Given the description of an element on the screen output the (x, y) to click on. 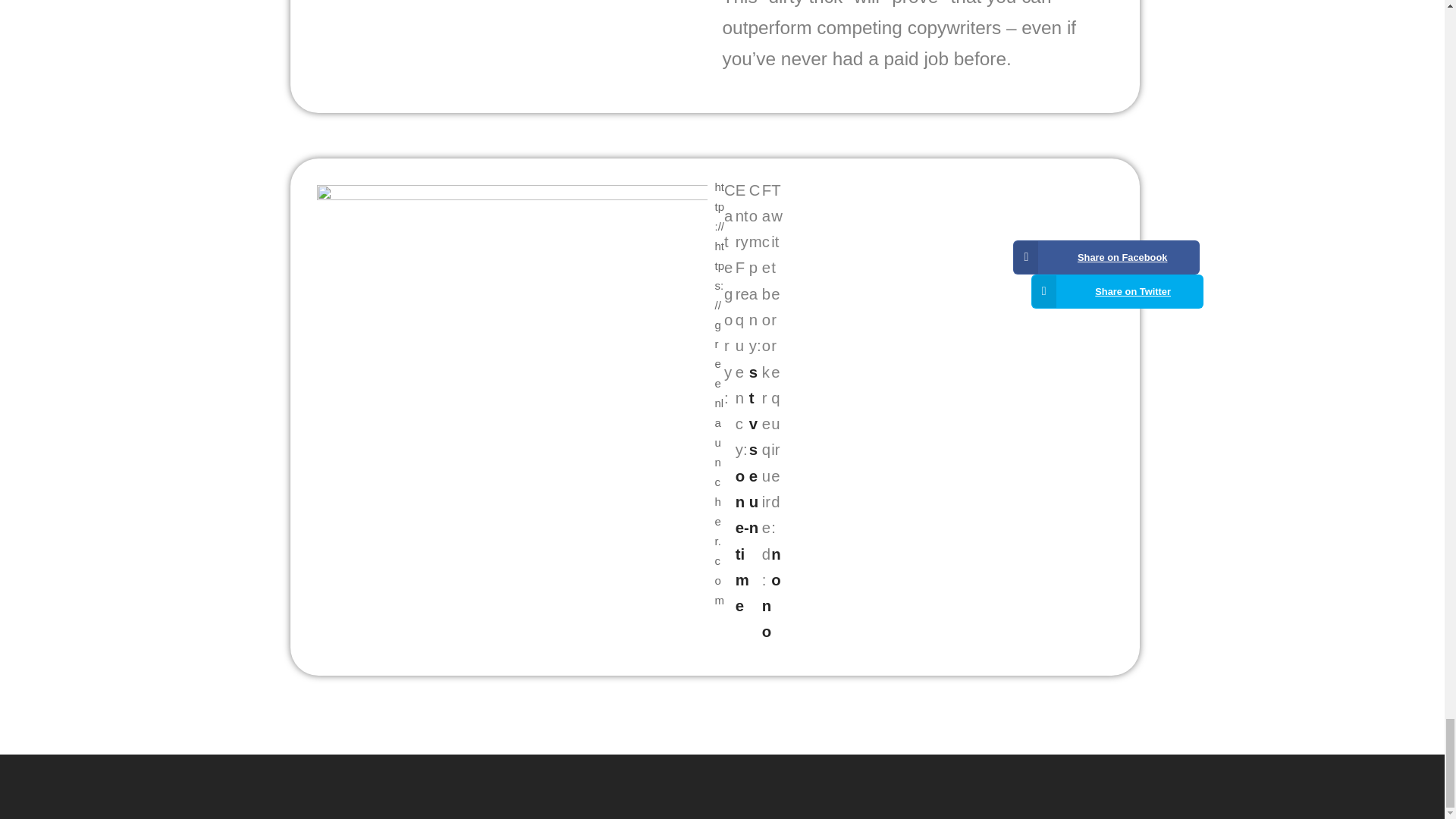
Share on Twitter (1117, 291)
Share on Facebook (1106, 257)
